Given the description of an element on the screen output the (x, y) to click on. 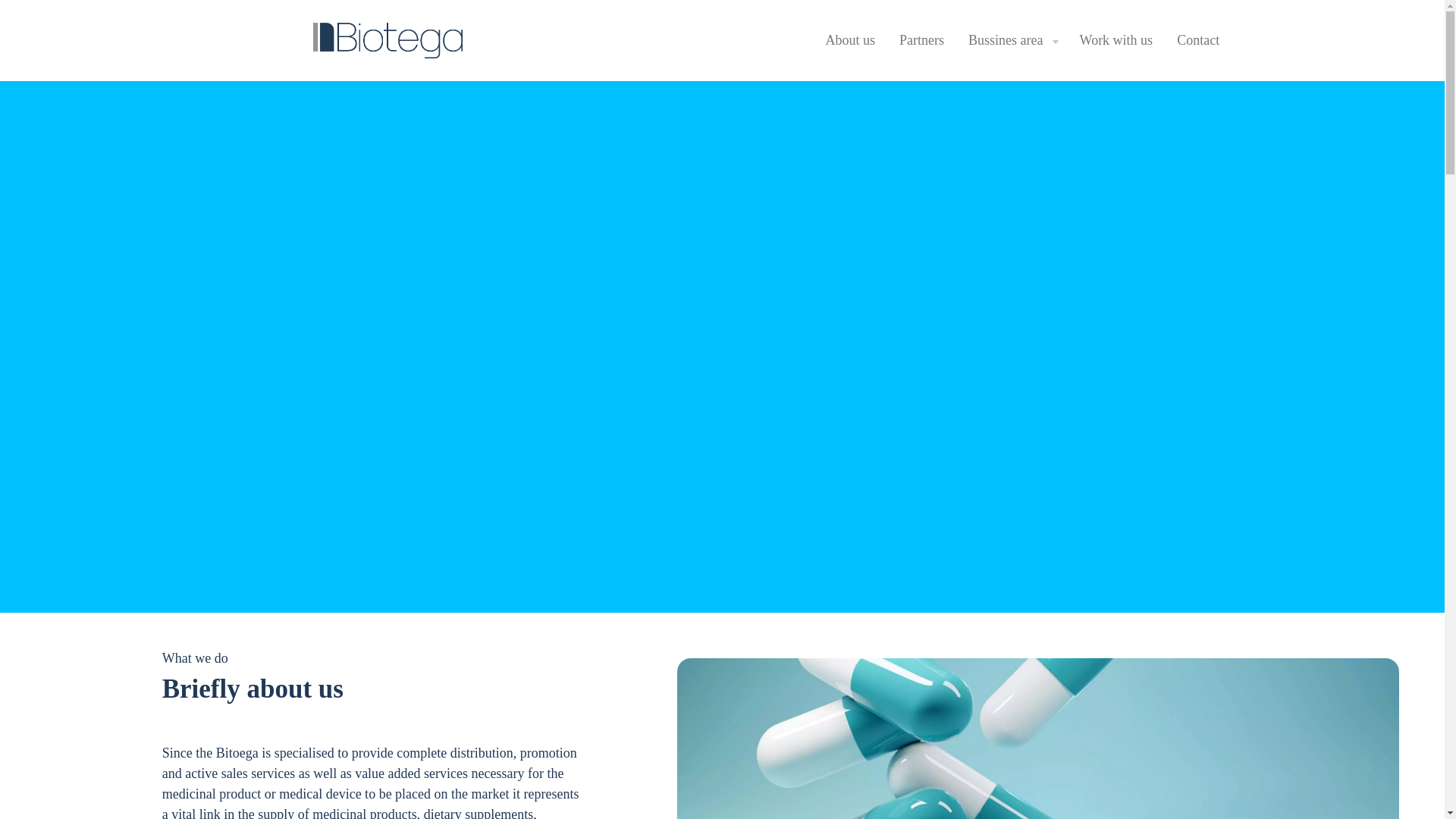
Work with us (1116, 40)
About us (850, 40)
Bussines area (1011, 40)
Partners (921, 40)
Contact (1197, 40)
